Given the description of an element on the screen output the (x, y) to click on. 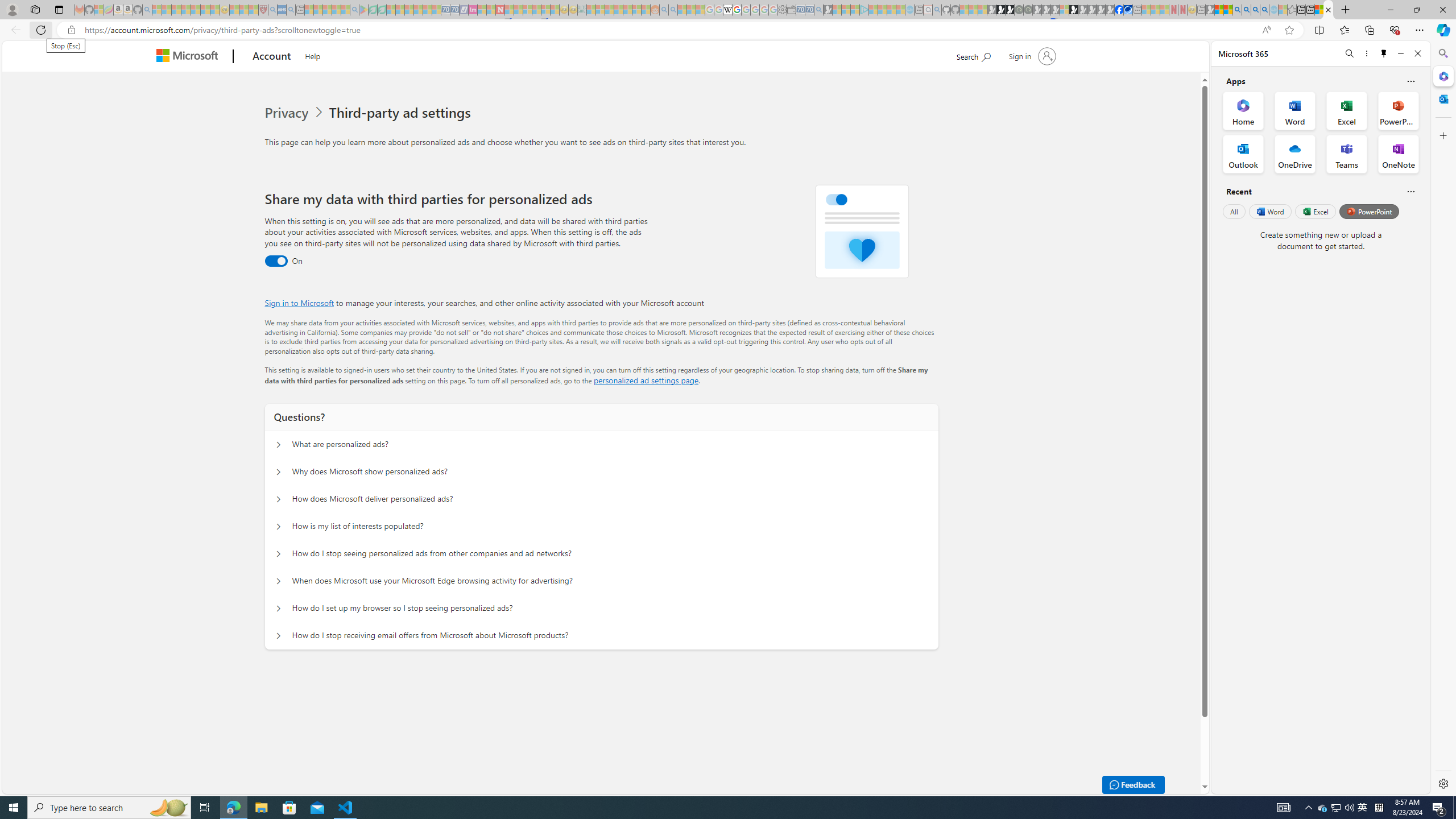
NCL Adult Asthma Inhaler Choice Guideline - Sleeping (281, 9)
Word (1269, 210)
New Report Confirms 2023 Was Record Hot | Watch - Sleeping (195, 9)
github - Search - Sleeping (936, 9)
Questions? How is my list of interests populated? (278, 526)
